Given the description of an element on the screen output the (x, y) to click on. 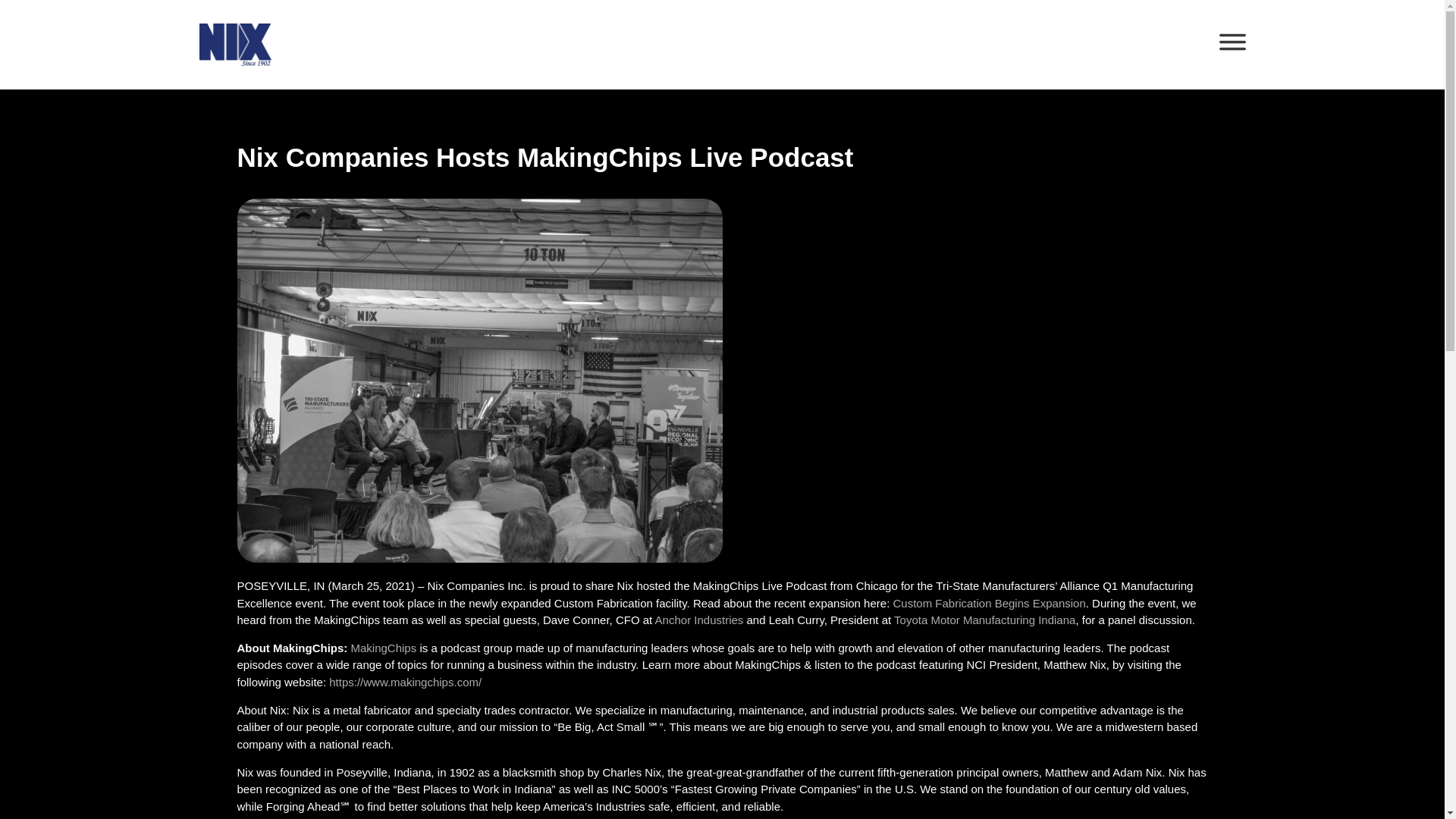
MakingChips (383, 647)
Anchor Industries (699, 619)
Custom Fabrication Begins Expansion (988, 602)
Toyota Motor Manufacturing Indiana (984, 619)
